Given the description of an element on the screen output the (x, y) to click on. 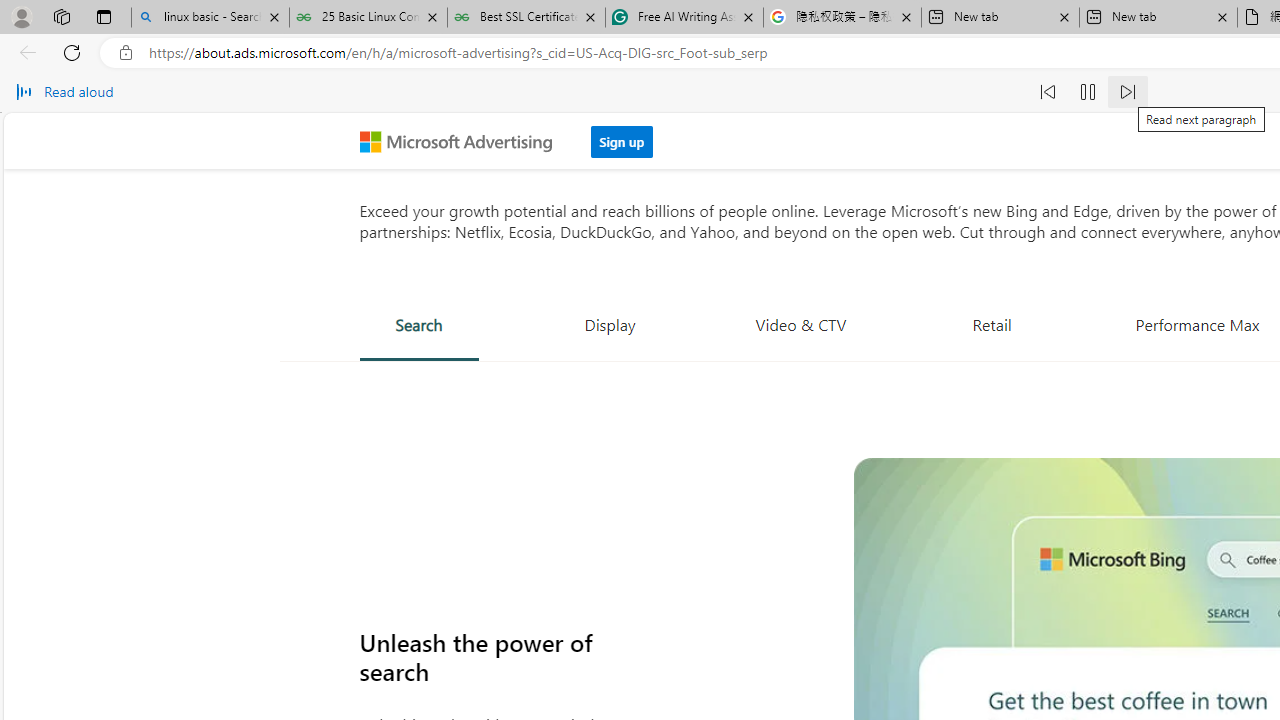
Sign up (621, 136)
Performance Max (1197, 324)
Read next paragraph (1128, 92)
Microsoft Advertising (463, 140)
Pause read aloud (Ctrl+Shift+U) (1087, 92)
Video & CTV (801, 324)
linux basic - Search (210, 17)
Read previous paragraph (1047, 92)
25 Basic Linux Commands For Beginners - GeeksforGeeks (368, 17)
